Given the description of an element on the screen output the (x, y) to click on. 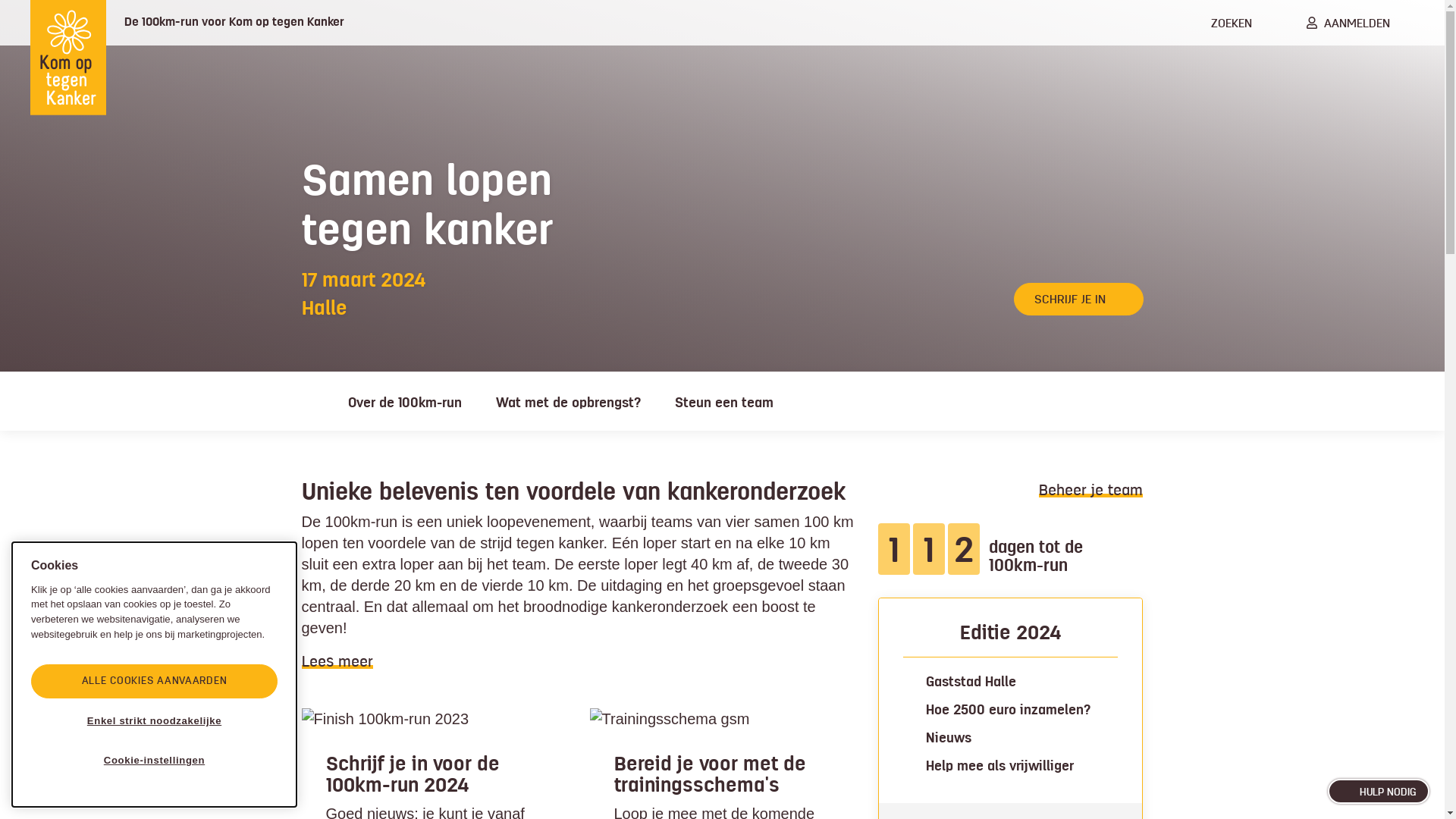
ZOEKEN Element type: text (1221, 22)
HULP NODIG Element type: text (1378, 790)
ALLE COOKIES AANVAARDEN Element type: text (154, 680)
Lees meer Element type: text (337, 660)
De 100km-run Element type: text (307, 400)
Beheer je team Element type: text (1090, 489)
Wat met de opbrengst? Element type: text (567, 400)
Over de 100km-run Element type: text (404, 400)
Overslaan en naar de inhoud gaan Element type: text (0, 0)
Cookie-instellingen Element type: text (154, 760)
Gaststad Halle Element type: text (970, 681)
Hoe 2500 euro inzamelen? Element type: text (1007, 709)
SCHRIJF JE IN Element type: text (1078, 298)
Nieuws Element type: text (947, 737)
AANMELDEN Element type: text (1348, 22)
Enkel strikt noodzakelijke Element type: text (154, 721)
Help mee als vrijwilliger Element type: text (999, 765)
Steun een team Element type: text (723, 400)
